Given the description of an element on the screen output the (x, y) to click on. 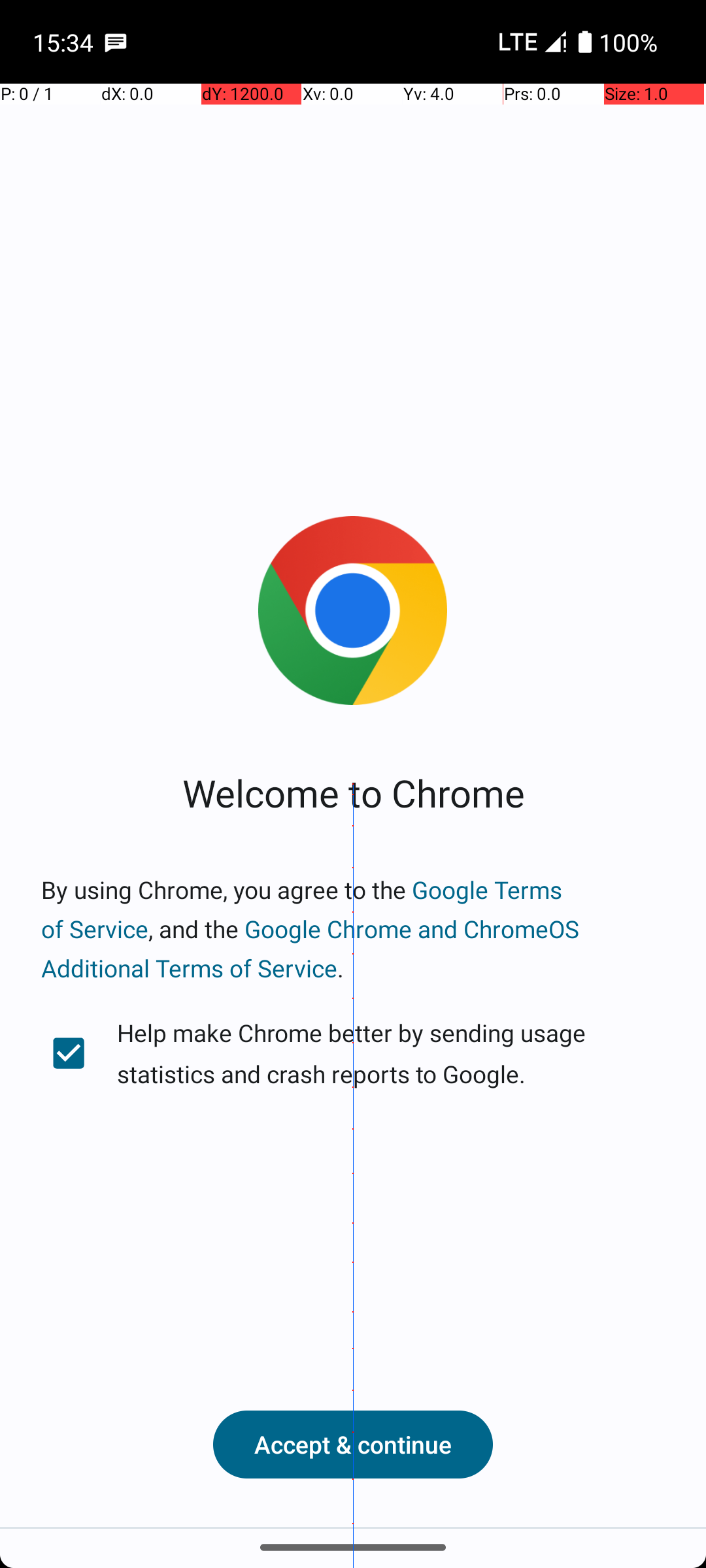
SMS Messenger notification: +15505050843 Element type: android.widget.ImageView (115, 41)
